Given the description of an element on the screen output the (x, y) to click on. 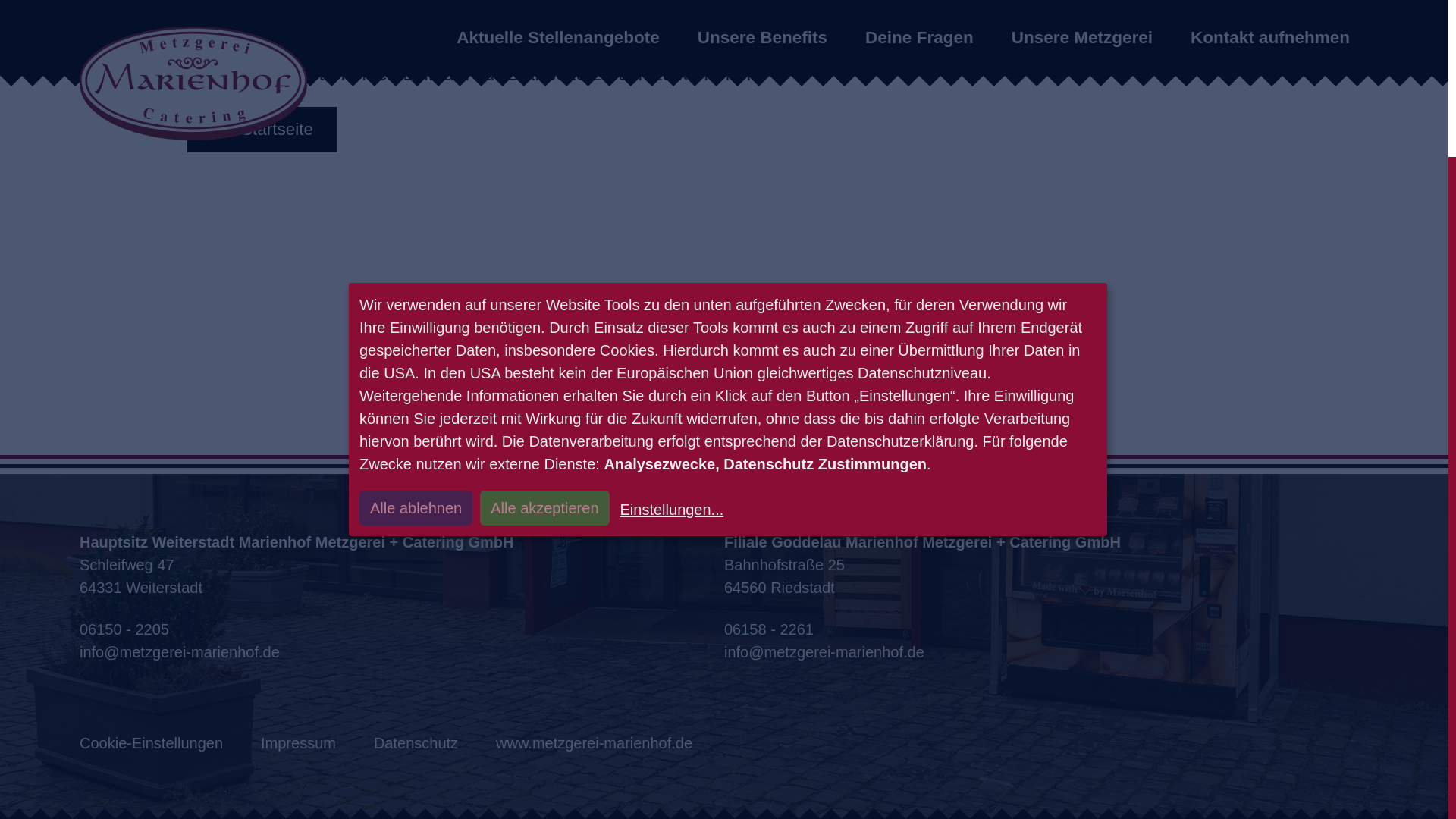
Zum Bewerbungsformular (892, 654)
Einstellungen... (670, 314)
Zur Startseite (262, 129)
Jetzt bewerben (611, 654)
Jetzt anrufen (1045, 629)
Cookie-Einstellungen (151, 743)
Jobs bei Metzgerei Marienhof auf Facebook (95, 654)
Zur Startseite (262, 129)
Datenschutz (416, 743)
06150 - 2205 (401, 629)
www.metzgerei-marienhof.de (594, 743)
Jetzt anrufen (401, 629)
E-Mail schreiben (401, 651)
06150 - 22 05 (371, 654)
Jetzt anrufen (371, 654)
